Given the description of an element on the screen output the (x, y) to click on. 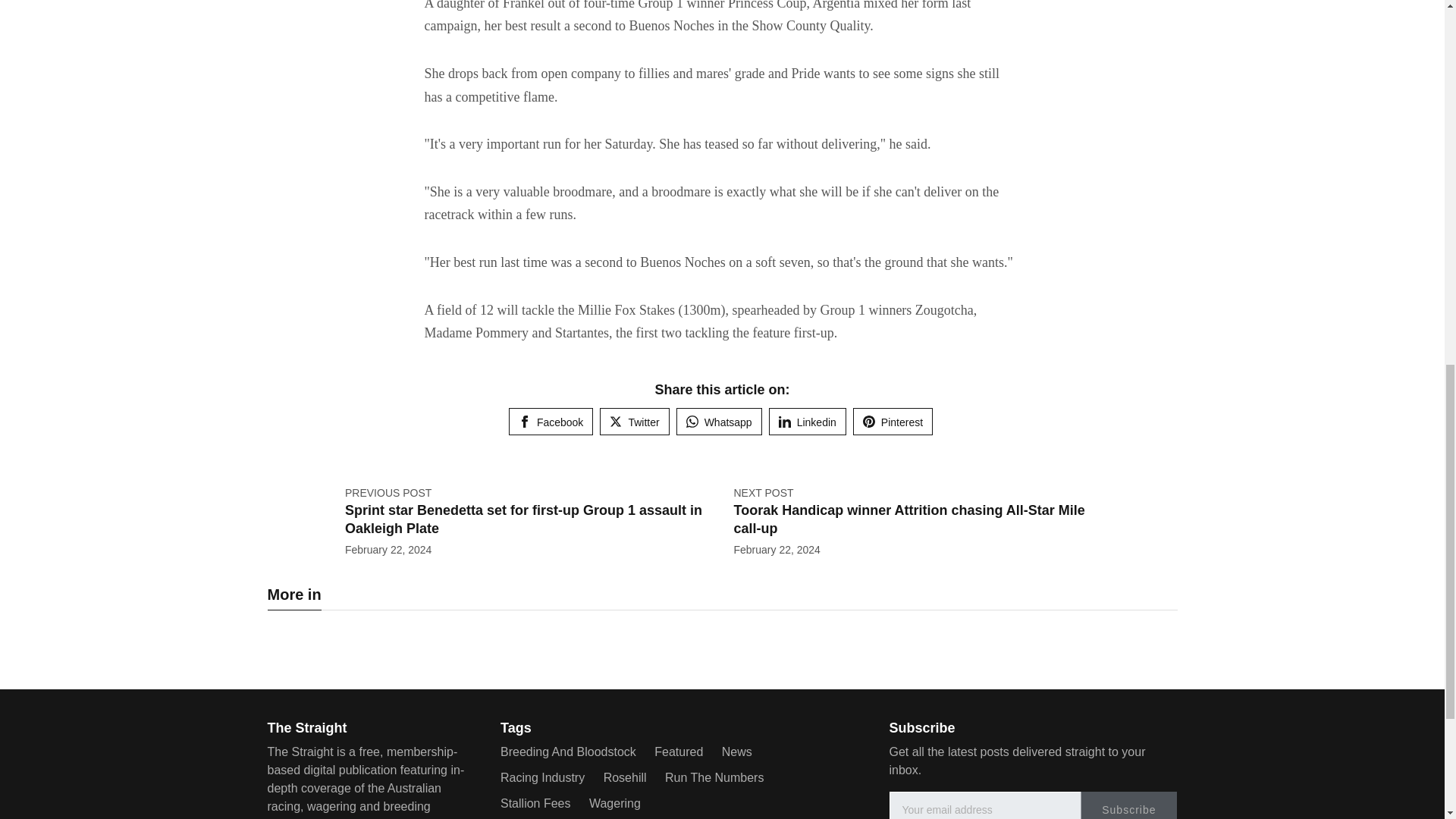
Featured (678, 751)
22 February, 2024 (776, 549)
Share on Twitter (633, 420)
Facebook (550, 420)
News (737, 751)
Share on Whatsapp (719, 420)
Share on Facebook (550, 420)
NEXT POST (763, 492)
